Given the description of an element on the screen output the (x, y) to click on. 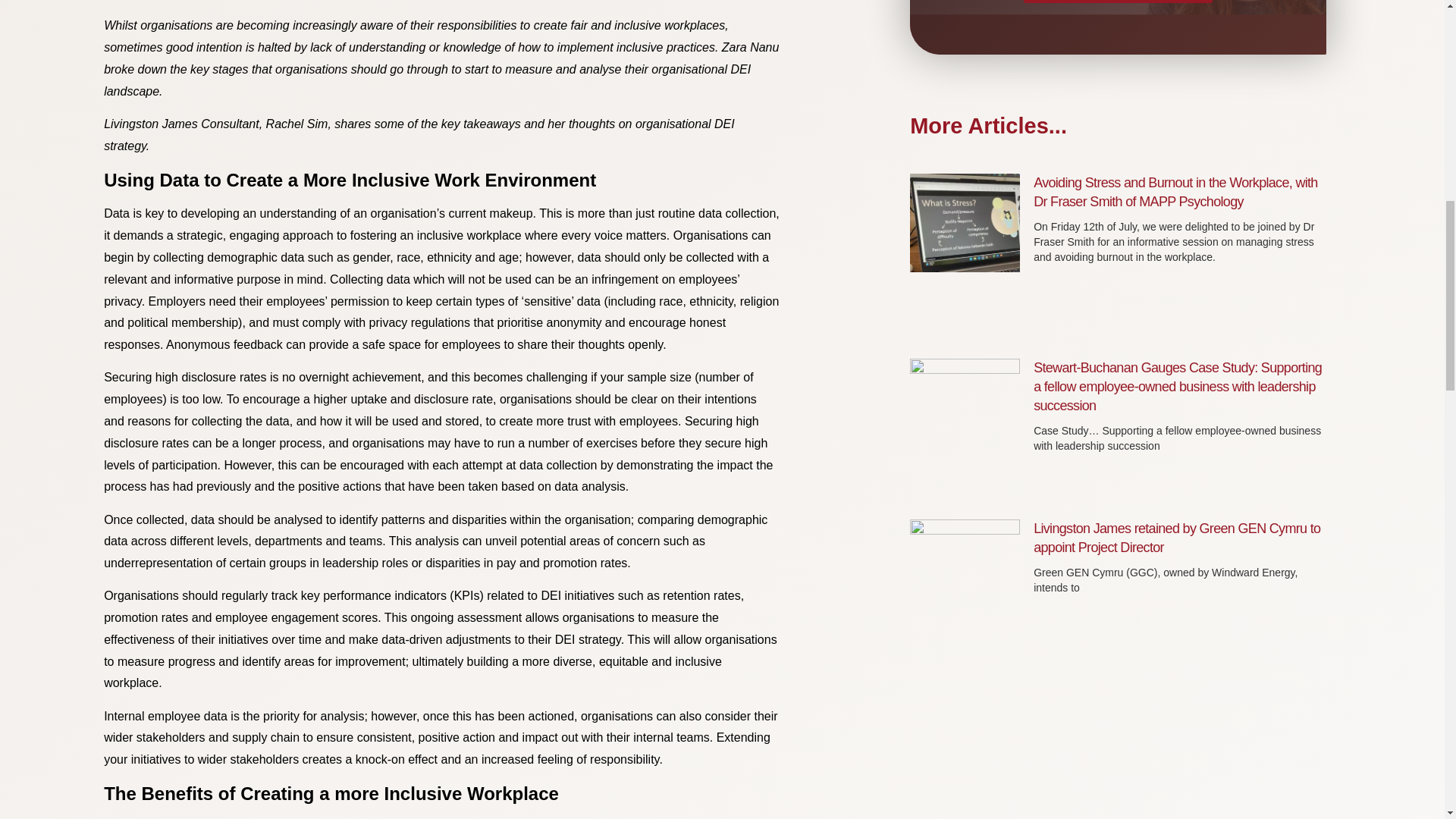
CONTACT US (1117, 1)
